Given the description of an element on the screen output the (x, y) to click on. 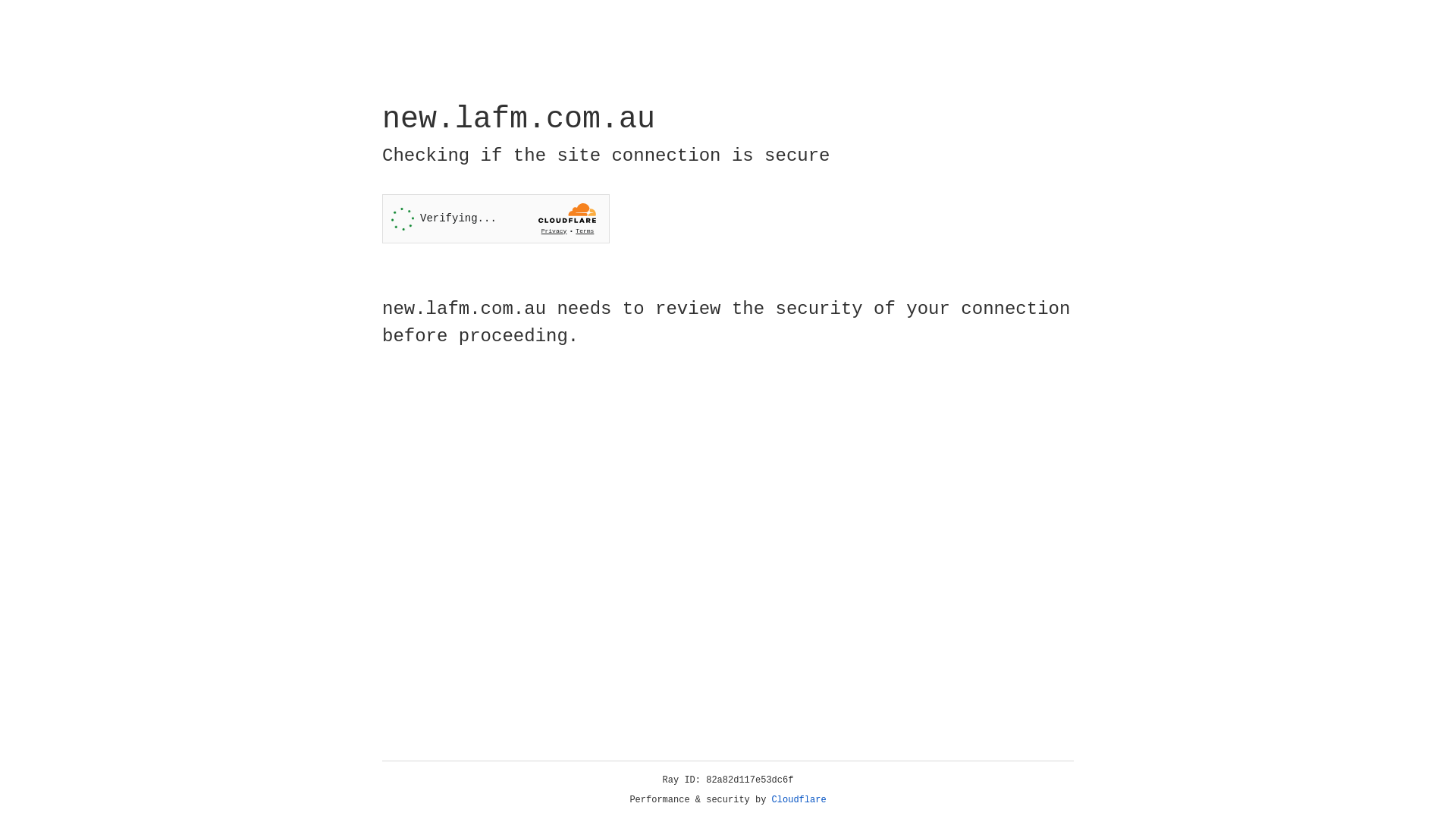
Widget containing a Cloudflare security challenge Element type: hover (495, 218)
Cloudflare Element type: text (798, 799)
